Given the description of an element on the screen output the (x, y) to click on. 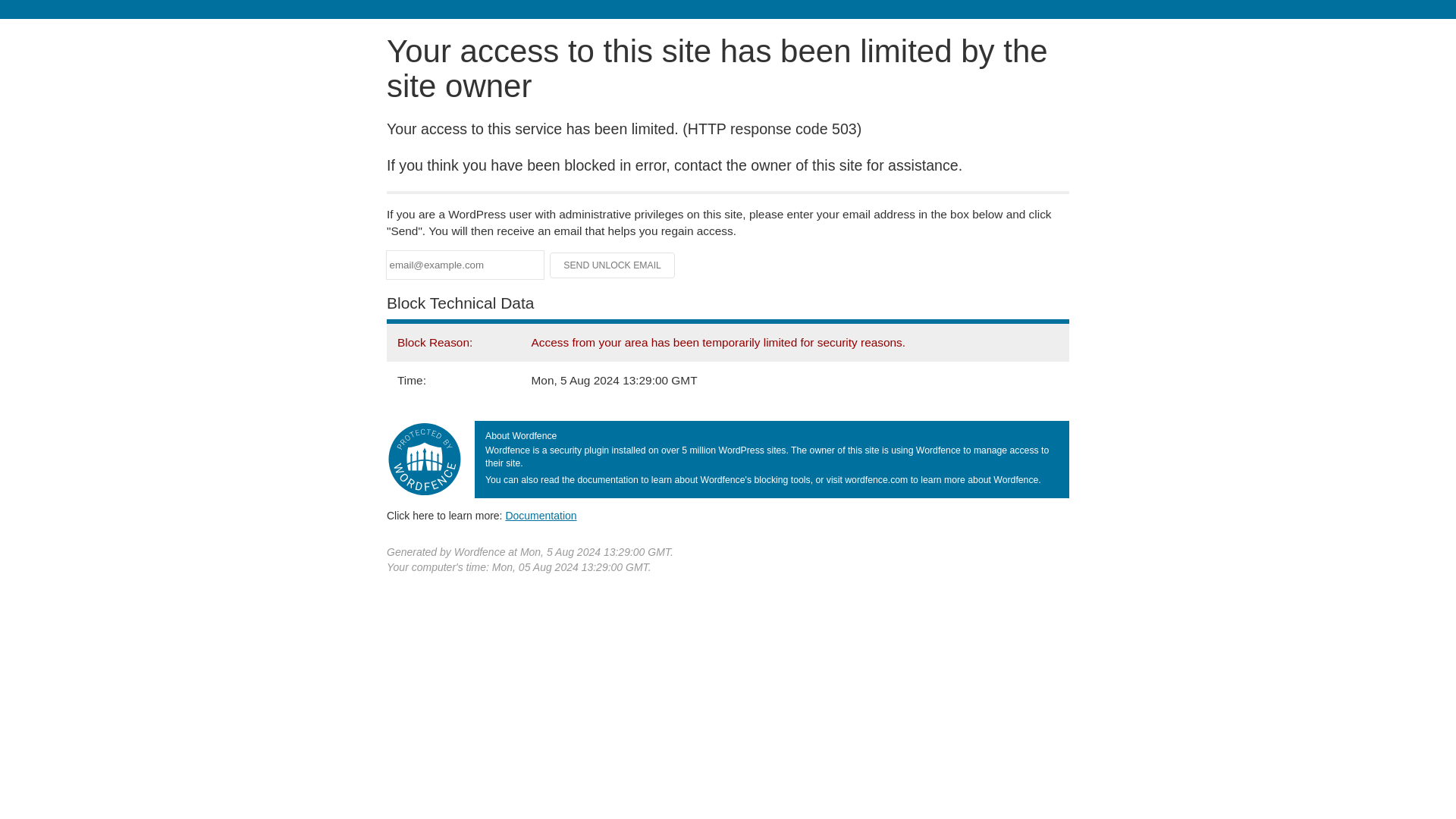
Documentation (540, 515)
Send Unlock Email (612, 265)
Send Unlock Email (612, 265)
